Given the description of an element on the screen output the (x, y) to click on. 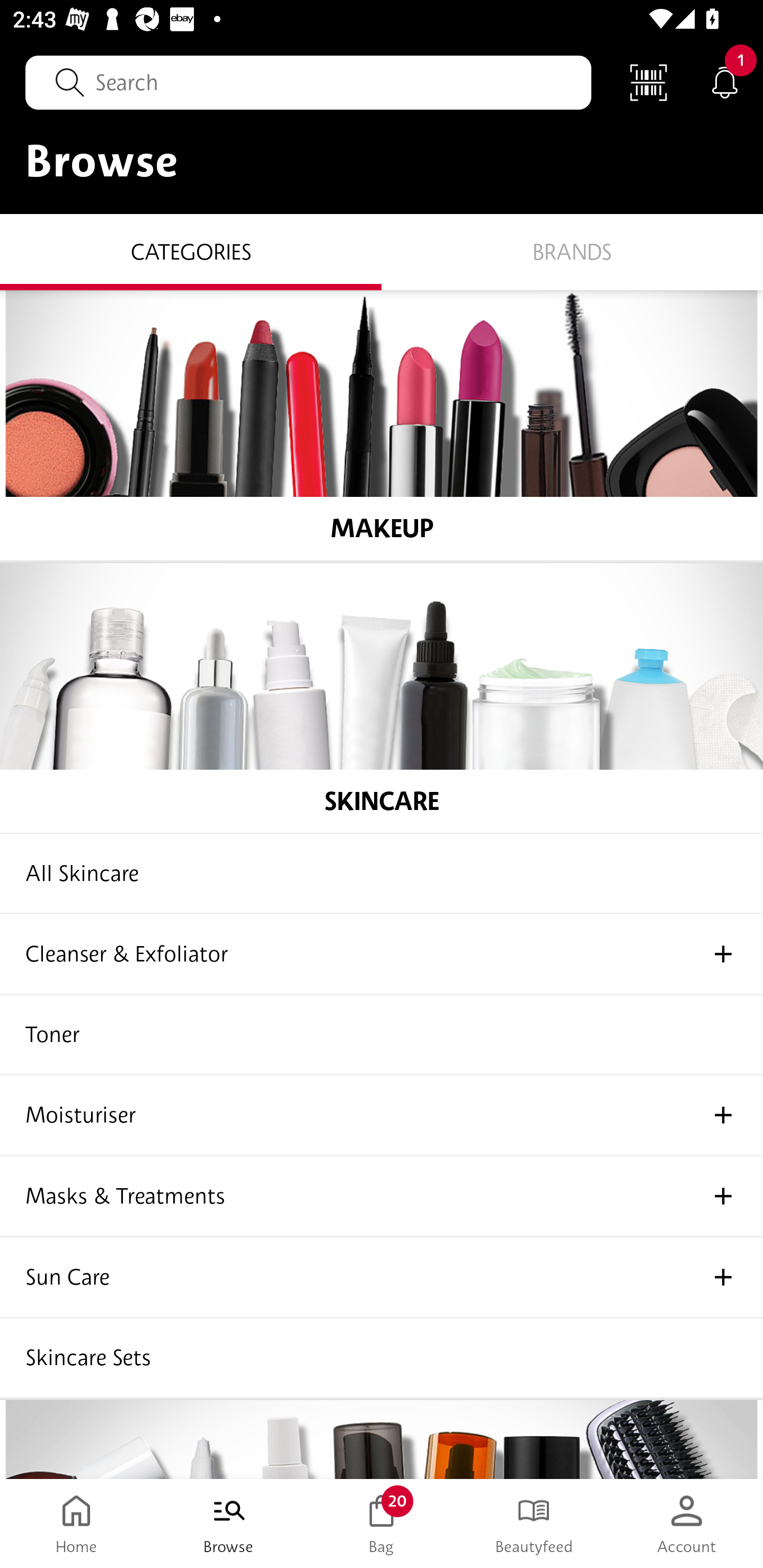
Scan Code (648, 81)
Notifications (724, 81)
Search (308, 81)
Brands BRANDS (572, 251)
MAKEUP (381, 425)
All Skincare (381, 874)
Cleanser & Exfoliator (381, 954)
Toner (381, 1035)
Moisturiser (381, 1116)
Masks & Treatments (381, 1197)
Sun Care (381, 1277)
Skincare Sets (381, 1358)
Home (76, 1523)
Bag 20 Bag (381, 1523)
Beautyfeed (533, 1523)
Account (686, 1523)
